Given the description of an element on the screen output the (x, y) to click on. 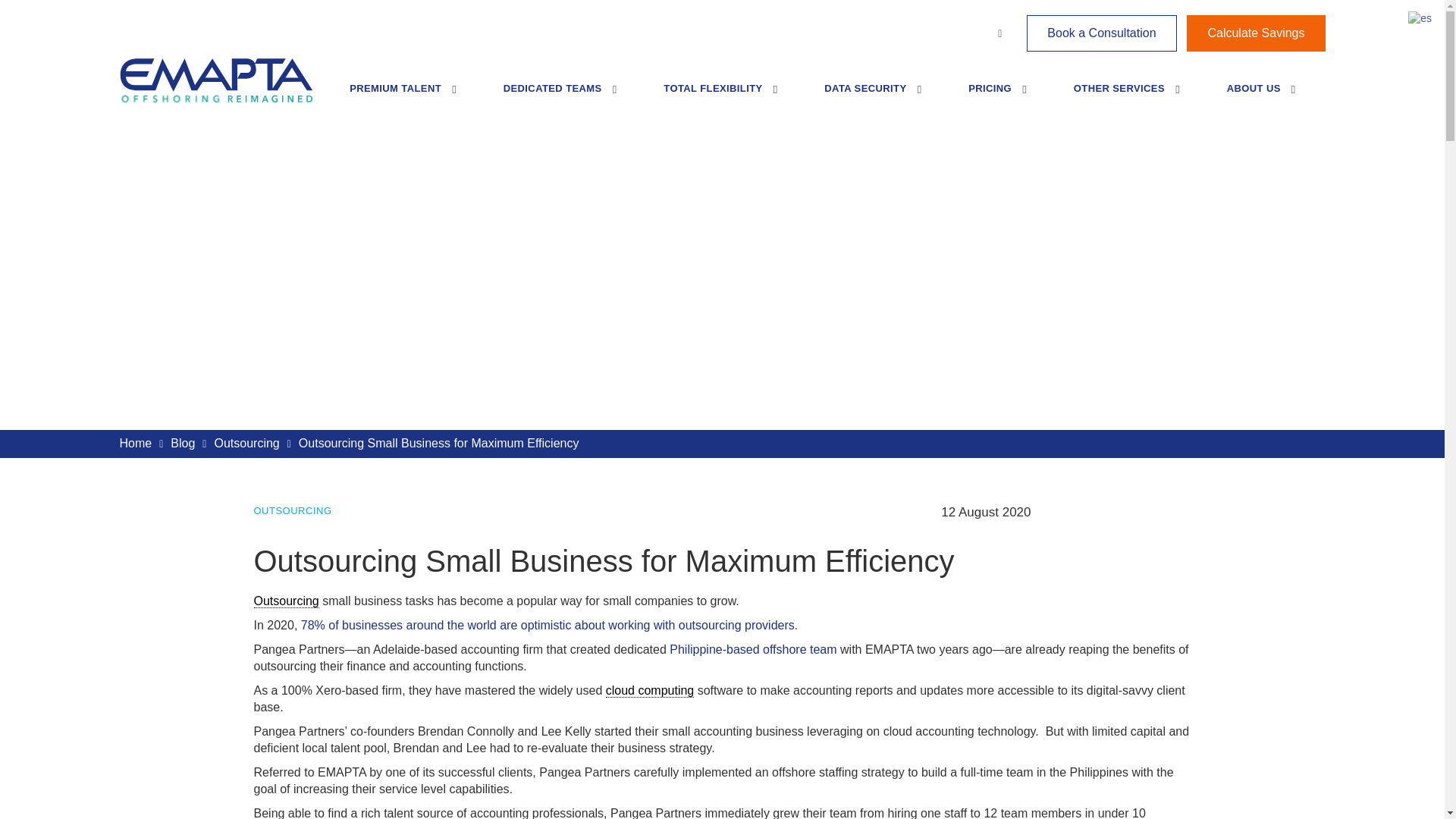
Big Value. Small Prices. (990, 95)
Search (812, 158)
Your Dedicated Talent Offshore (553, 95)
Your Team. Your Way. (713, 95)
Complete Protection (865, 95)
Top Talent. Total Care. (404, 95)
DEDICATED TEAMS (553, 95)
Complete Staffing Solutions (1120, 95)
A little about us. (1254, 95)
Calculate Savings (1255, 33)
Search (789, 158)
PREMIUM TALENT (404, 95)
Book a Consultation (1101, 33)
